Given the description of an element on the screen output the (x, y) to click on. 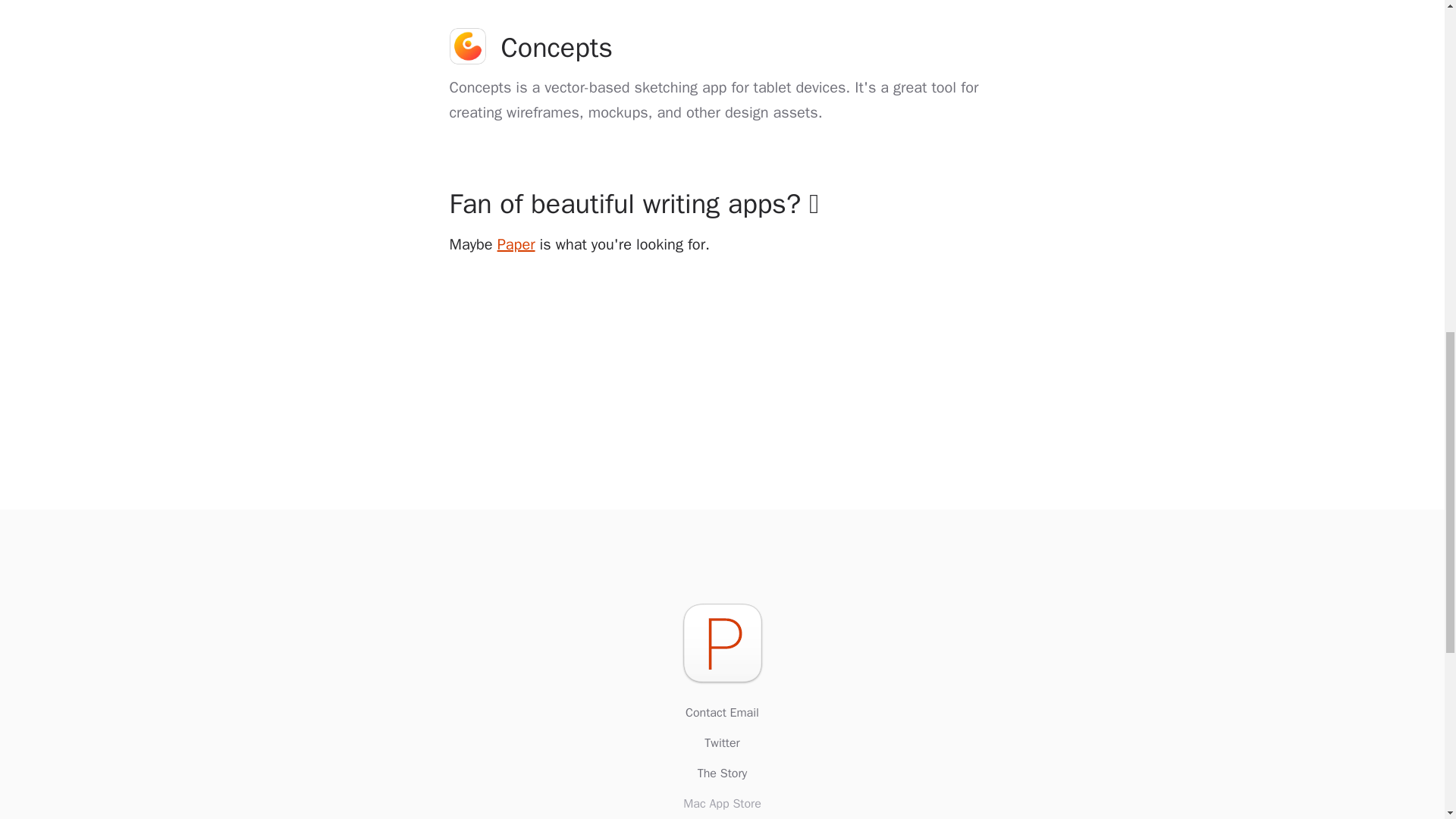
Twitter (722, 742)
Mac App Store (722, 803)
Paper (516, 244)
Contact Email (722, 712)
The Story (722, 773)
Concepts (721, 47)
